Given the description of an element on the screen output the (x, y) to click on. 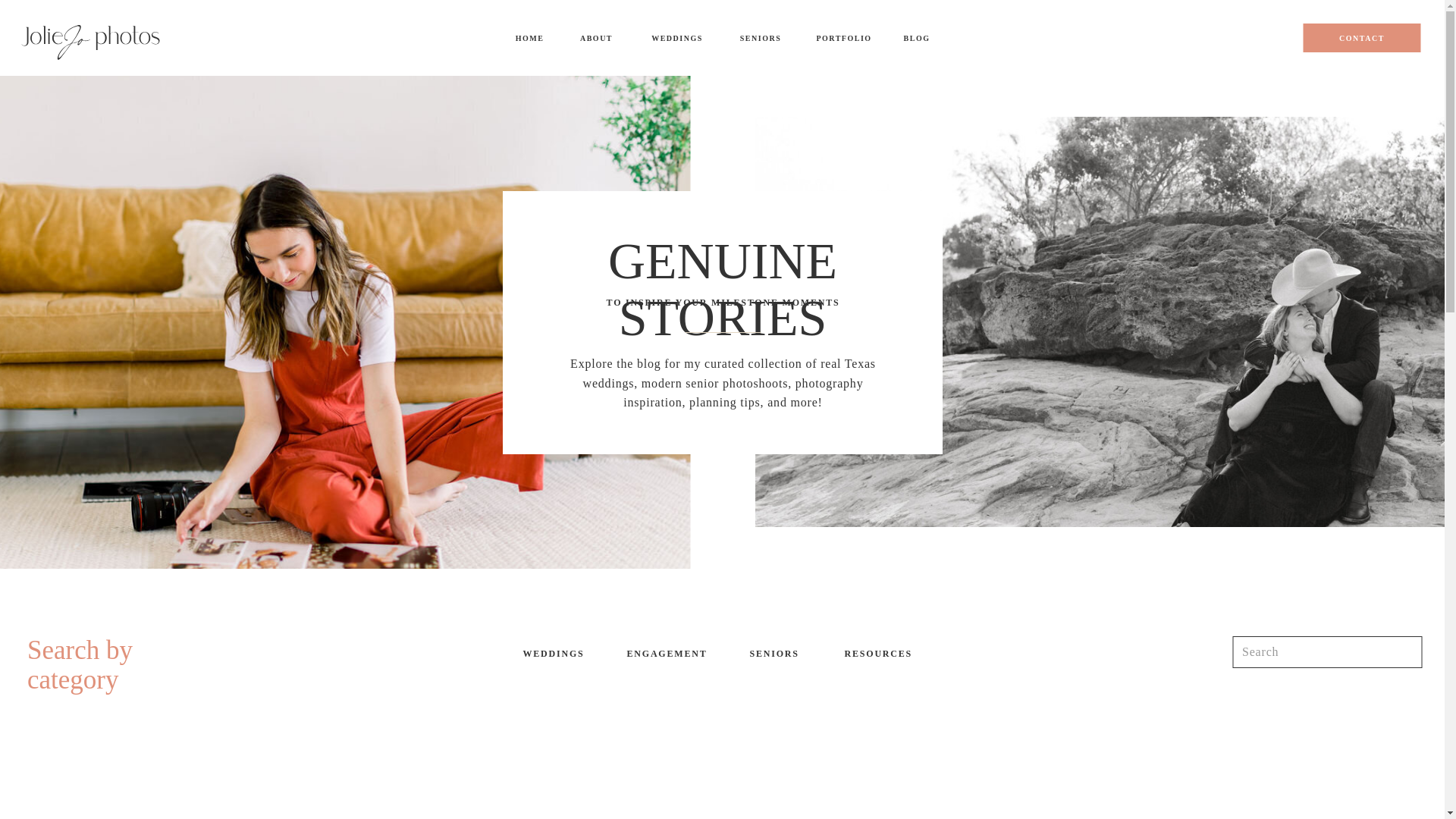
CONTACT (1360, 38)
PORTFOLIO (843, 38)
BLOG (916, 38)
WEDDINGS (677, 38)
SENIORS (759, 38)
HOME (528, 38)
ABOUT (596, 38)
